Given the description of an element on the screen output the (x, y) to click on. 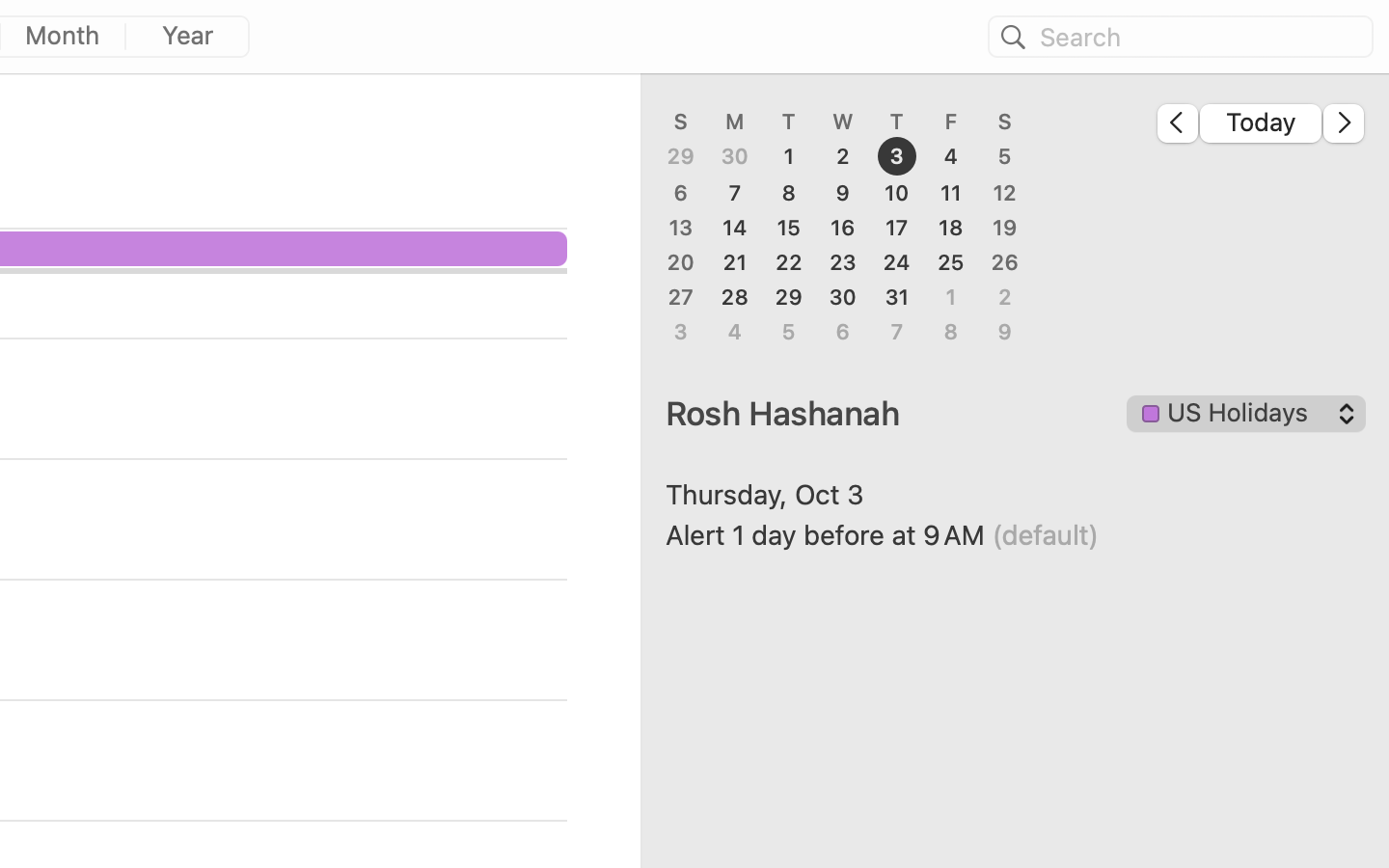
29 Element type: AXStaticText (680, 156)
9 Element type: AXStaticText (843, 192)
22 Element type: AXStaticText (789, 261)
27 Element type: AXStaticText (680, 296)
